Given the description of an element on the screen output the (x, y) to click on. 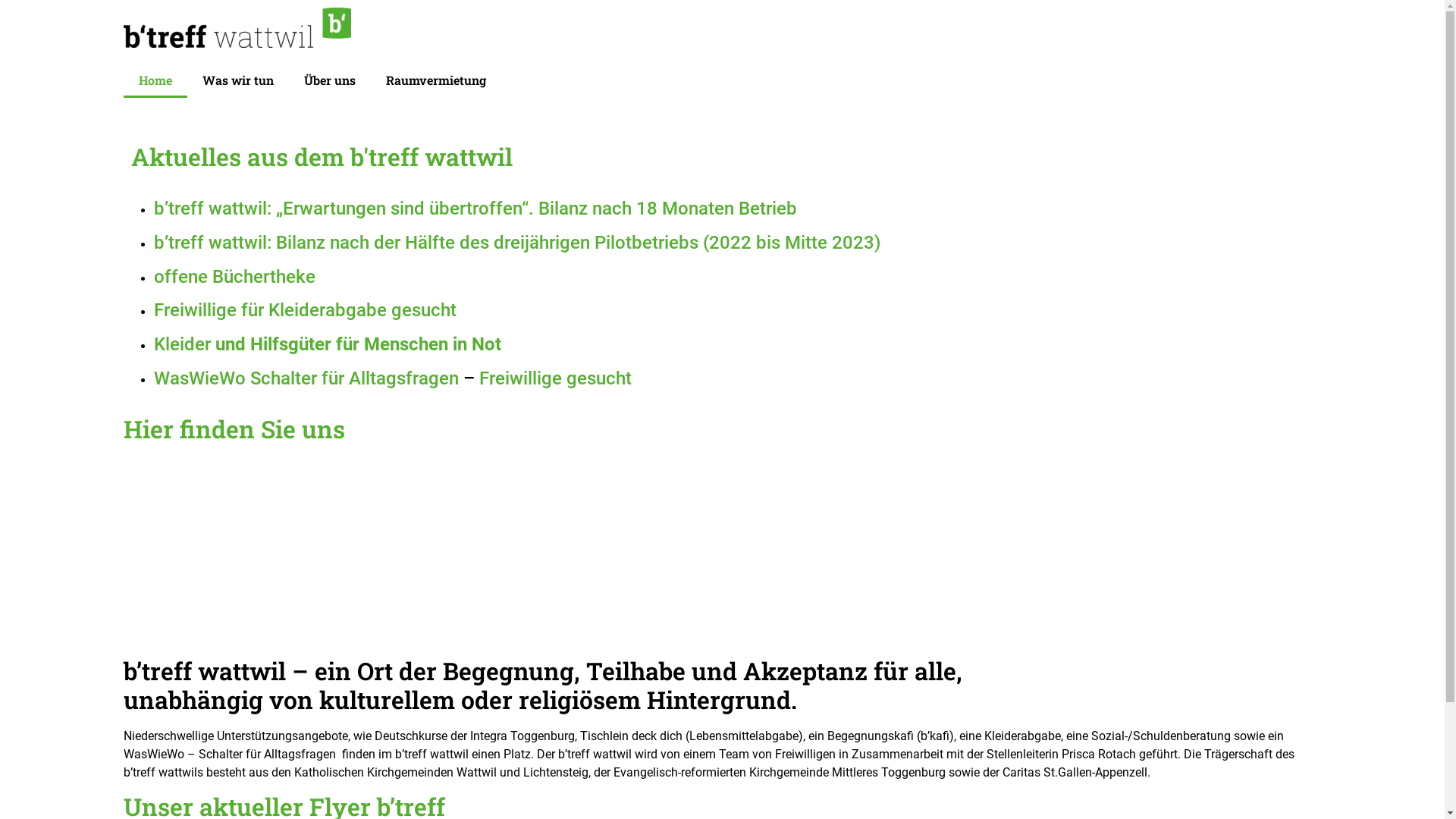
Was wir tun Element type: text (237, 79)
Home Element type: text (154, 79)
Raumvermietung Element type: text (435, 79)
alte bahnhofstrasse 10, 9630 Wattwil Element type: hover (721, 545)
Freiwillige gesucht Element type: text (555, 378)
Kleide Element type: text (178, 343)
r Element type: text (207, 343)
